Given the description of an element on the screen output the (x, y) to click on. 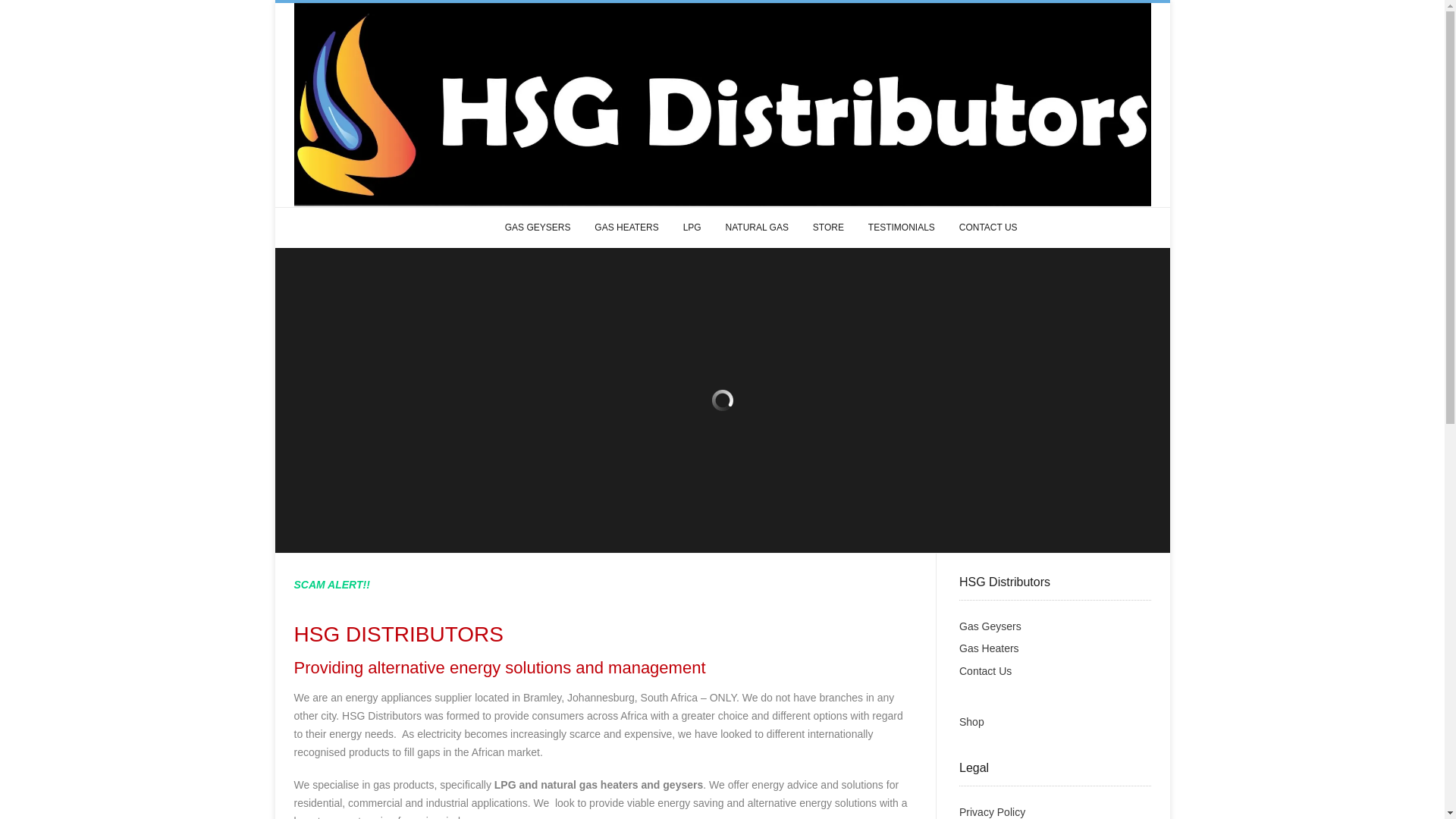
GAS HEATERS (625, 227)
GAS GEYSERS (537, 227)
STORE (828, 227)
TESTIMONIALS (900, 227)
Gas Geysers (990, 625)
LPG (691, 227)
ABOUT HSG (453, 227)
NATURAL GAS (756, 227)
Contact Us (985, 671)
Shop (971, 721)
Gas Heaters (989, 648)
CONTACT US (988, 227)
Privacy Policy (992, 811)
